Given the description of an element on the screen output the (x, y) to click on. 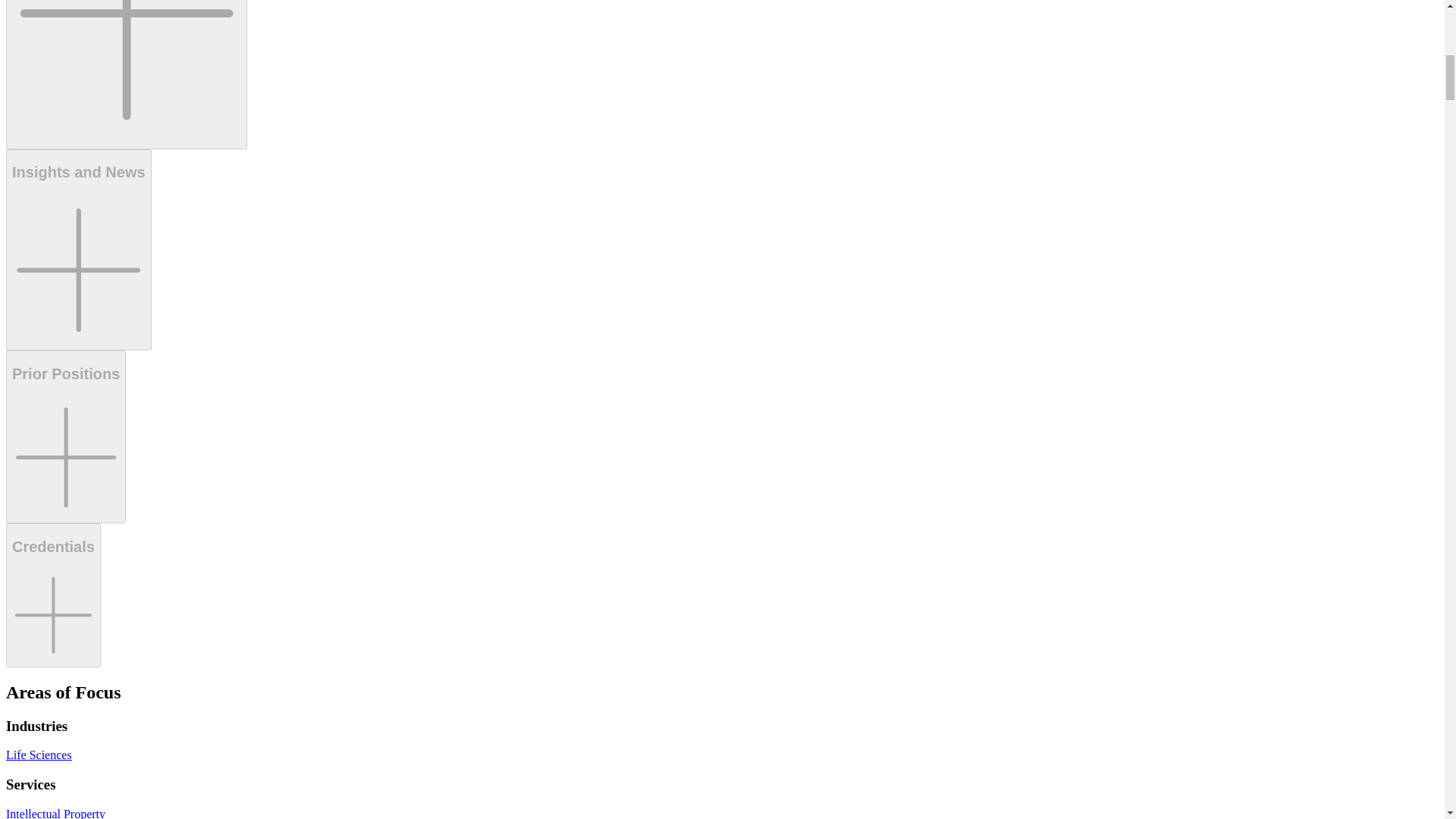
Life Sciences (38, 754)
Intellectual Property (54, 813)
Plus (126, 74)
